Given the description of an element on the screen output the (x, y) to click on. 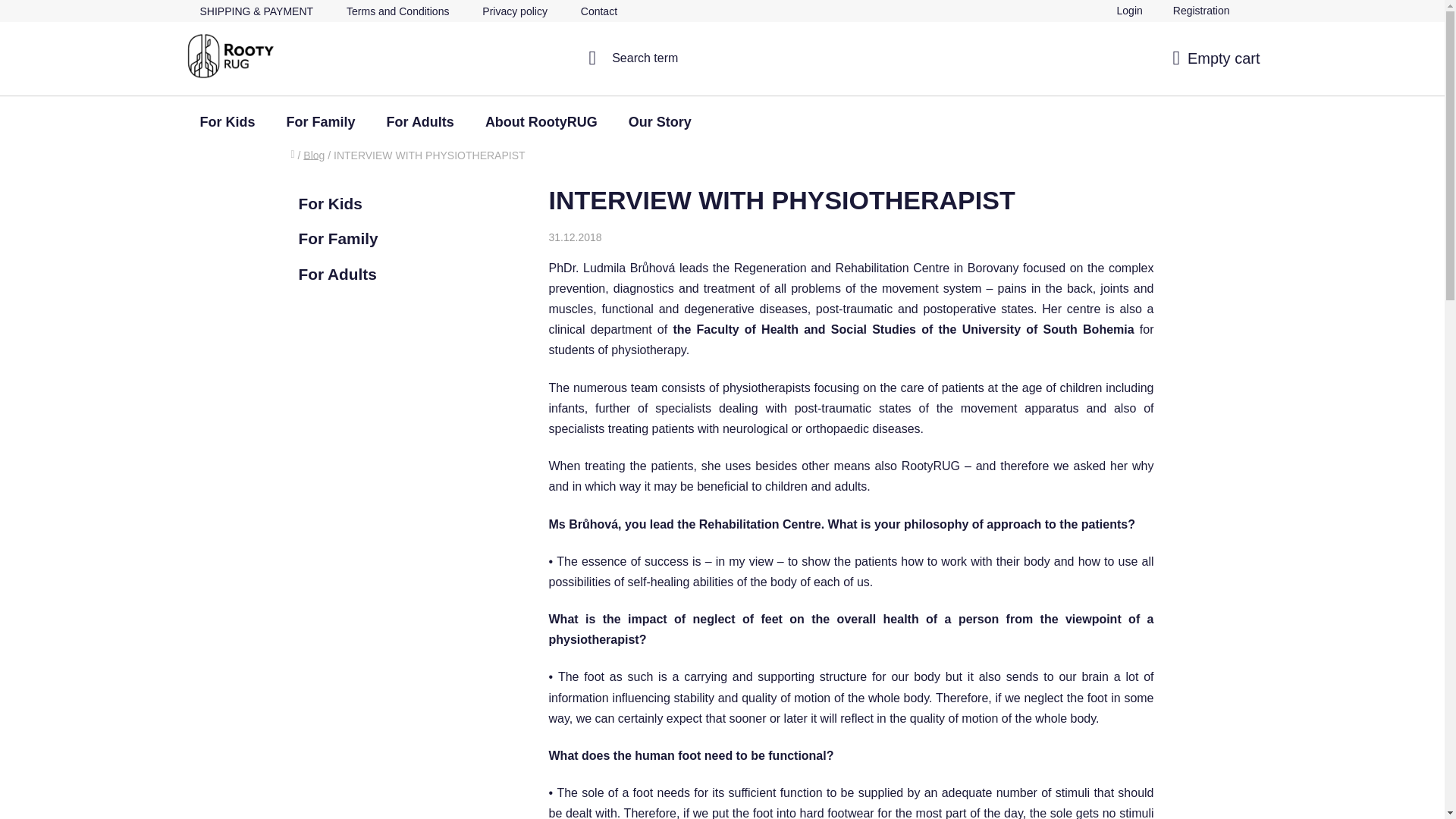
Registration (1200, 10)
Contact (598, 11)
For Family (320, 122)
About RootyRUG (541, 122)
Privacy policy (514, 11)
Our Story (659, 122)
For Kids (227, 122)
Contact (598, 11)
For Adults (419, 122)
Terms and Conditions (397, 11)
Login (1129, 10)
Terms and Conditions (397, 11)
Privacy policy (514, 11)
